Given the description of an element on the screen output the (x, y) to click on. 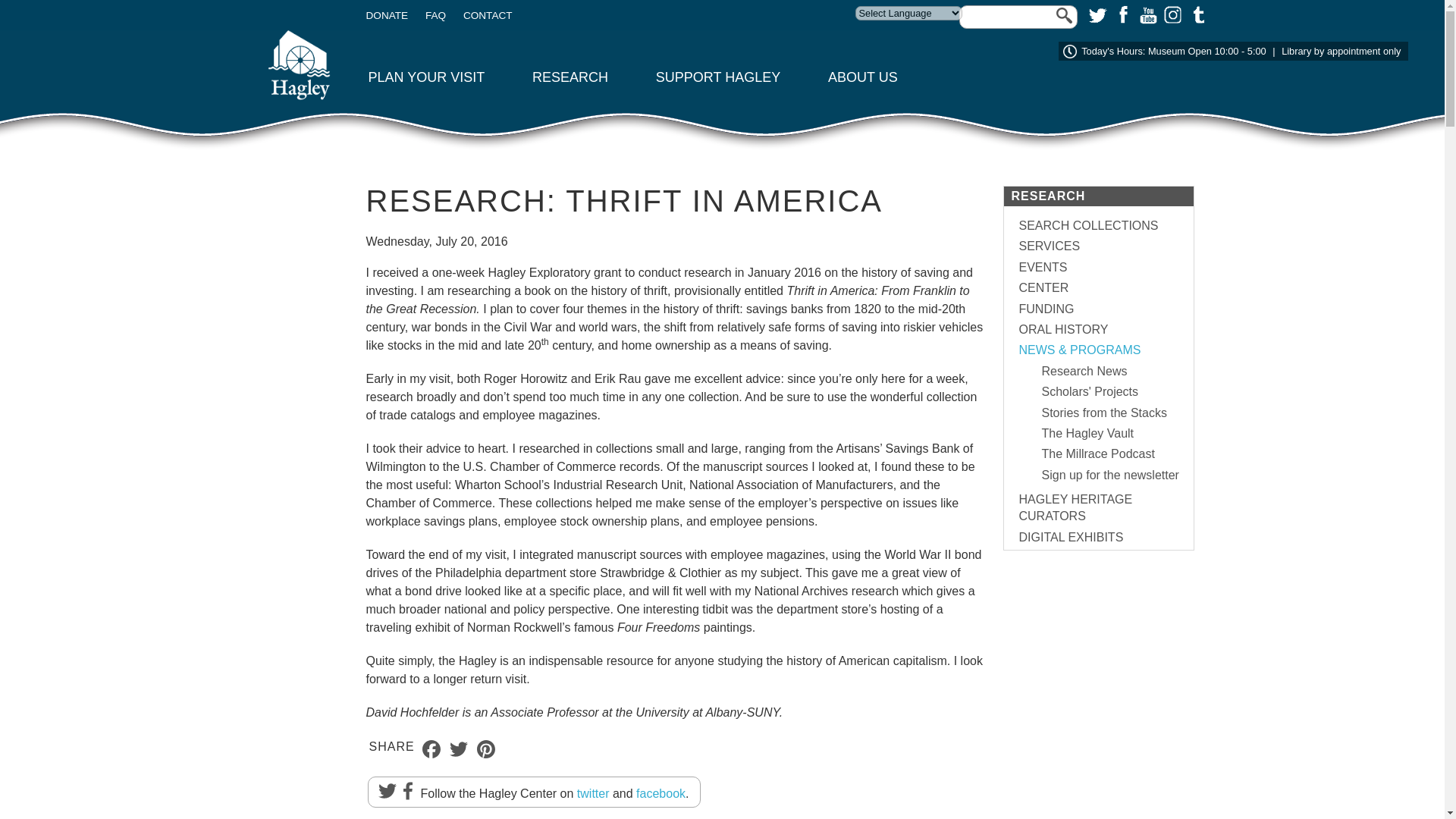
Tumblr (1196, 13)
Skip to main content (34, 0)
PLAN YOUR VISIT (426, 77)
YouTube (1146, 13)
DONATE (386, 15)
Twitter (1096, 13)
CONTACT (487, 15)
SUPPORT HAGLEY (718, 77)
Instagram (1171, 13)
YouTube (1146, 13)
RESEARCH (570, 77)
Enter the terms you wish to search for. (1018, 16)
Facebook (1120, 13)
FAQ (435, 15)
Tumblr (1196, 13)
